Given the description of an element on the screen output the (x, y) to click on. 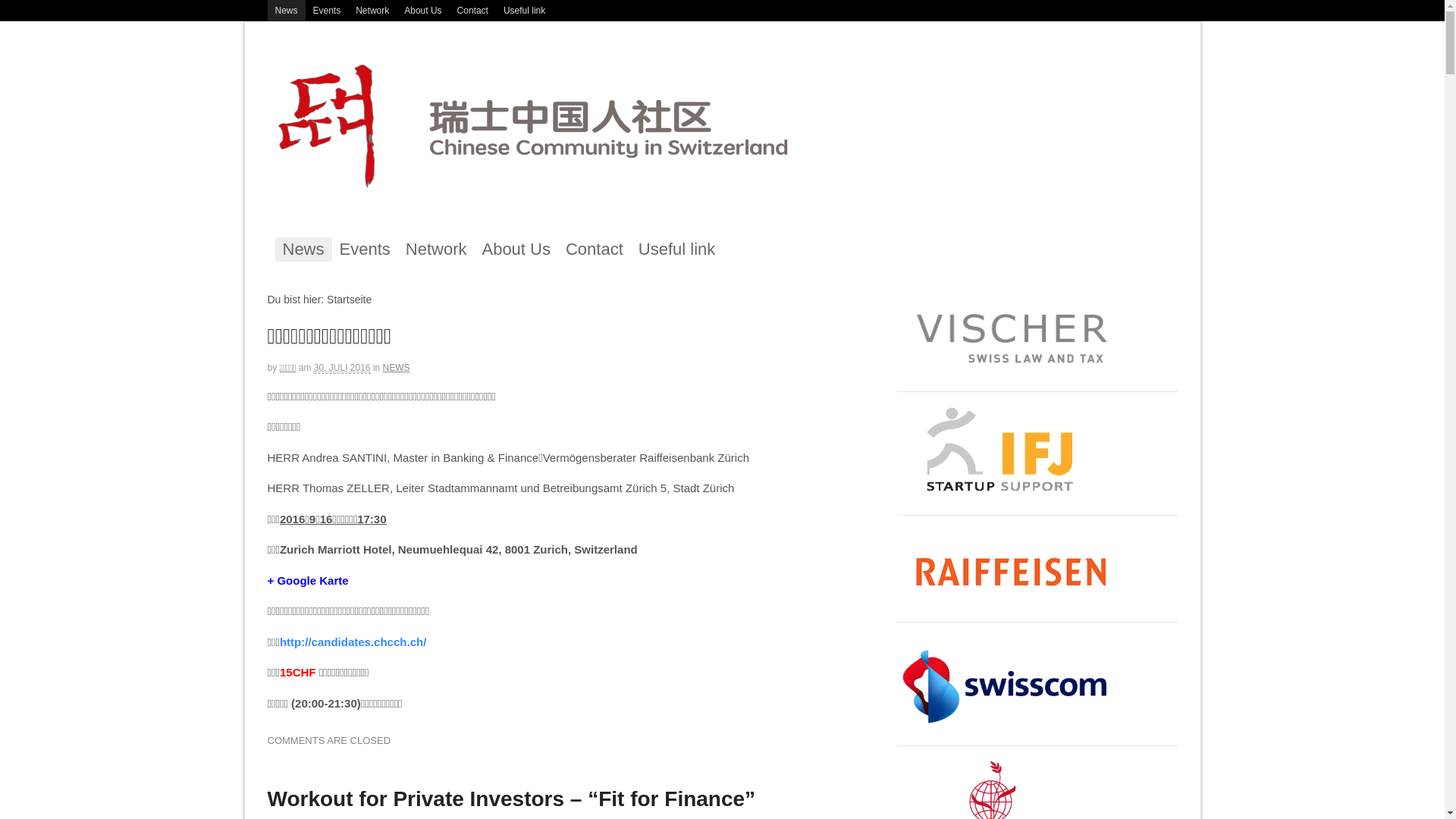
http://candidates.chcch.ch/ Element type: text (352, 641)
Network Element type: text (436, 249)
About Us Element type: text (515, 249)
Contact Element type: text (594, 249)
Events Element type: text (365, 249)
NEWS Element type: text (396, 367)
Useful link Element type: text (523, 10)
News Element type: text (285, 10)
Useful link Element type: text (676, 249)
Events Element type: text (326, 10)
Chinese Community in Switzerland Element type: hover (554, 191)
About Us Element type: text (422, 10)
+ Google Karte Element type: text (307, 580)
News Element type: text (302, 249)
Contact Element type: text (472, 10)
Network Element type: text (372, 10)
